Given the description of an element on the screen output the (x, y) to click on. 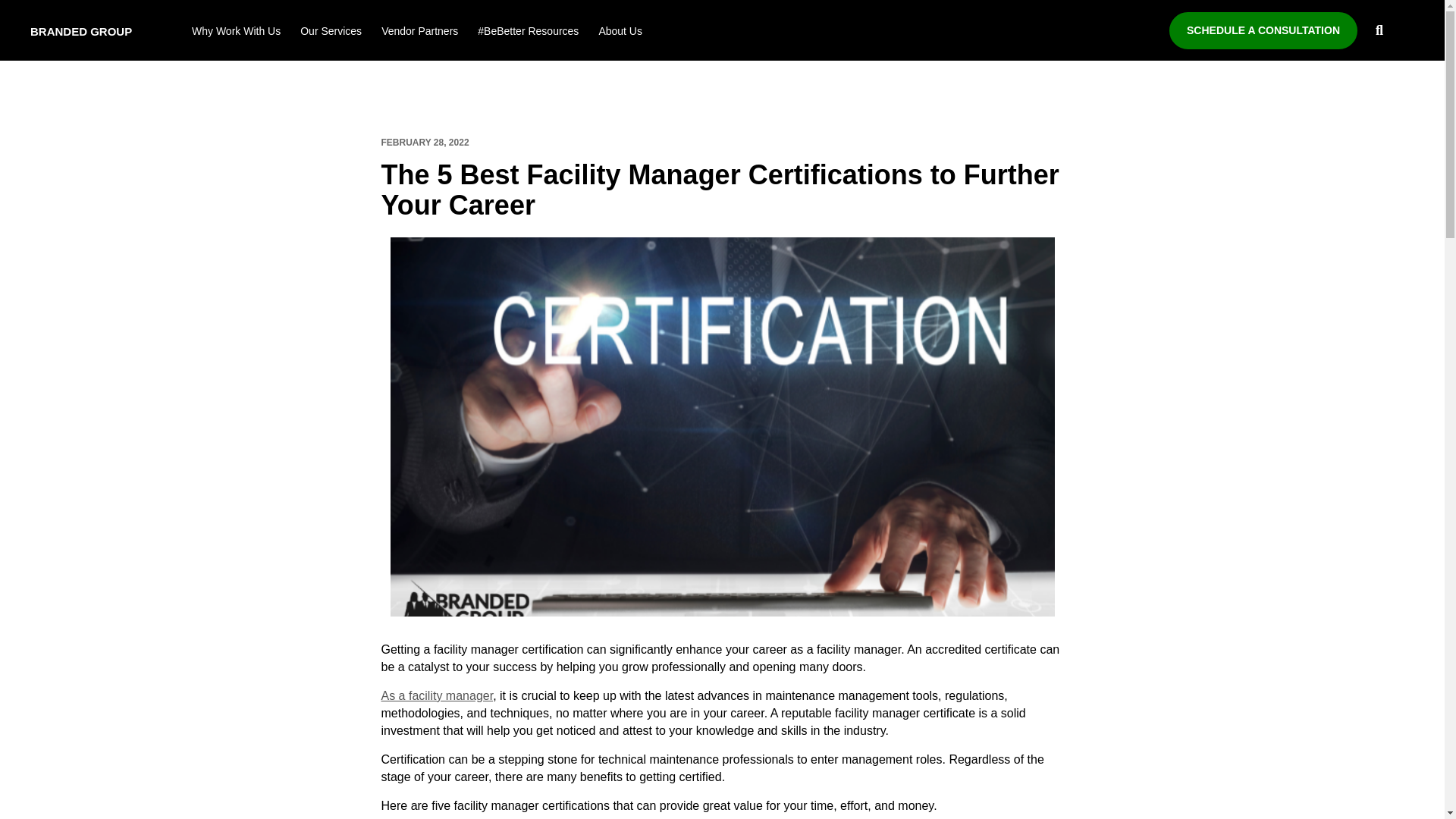
Vendor Partners (419, 33)
SCHEDULE A CONSULTATION (1262, 30)
About Us (620, 33)
As a facility manager (436, 695)
Toggle Search (1379, 31)
Our Services (330, 33)
BRANDED GROUP (81, 33)
Why Work With Us (236, 33)
